Given the description of an element on the screen output the (x, y) to click on. 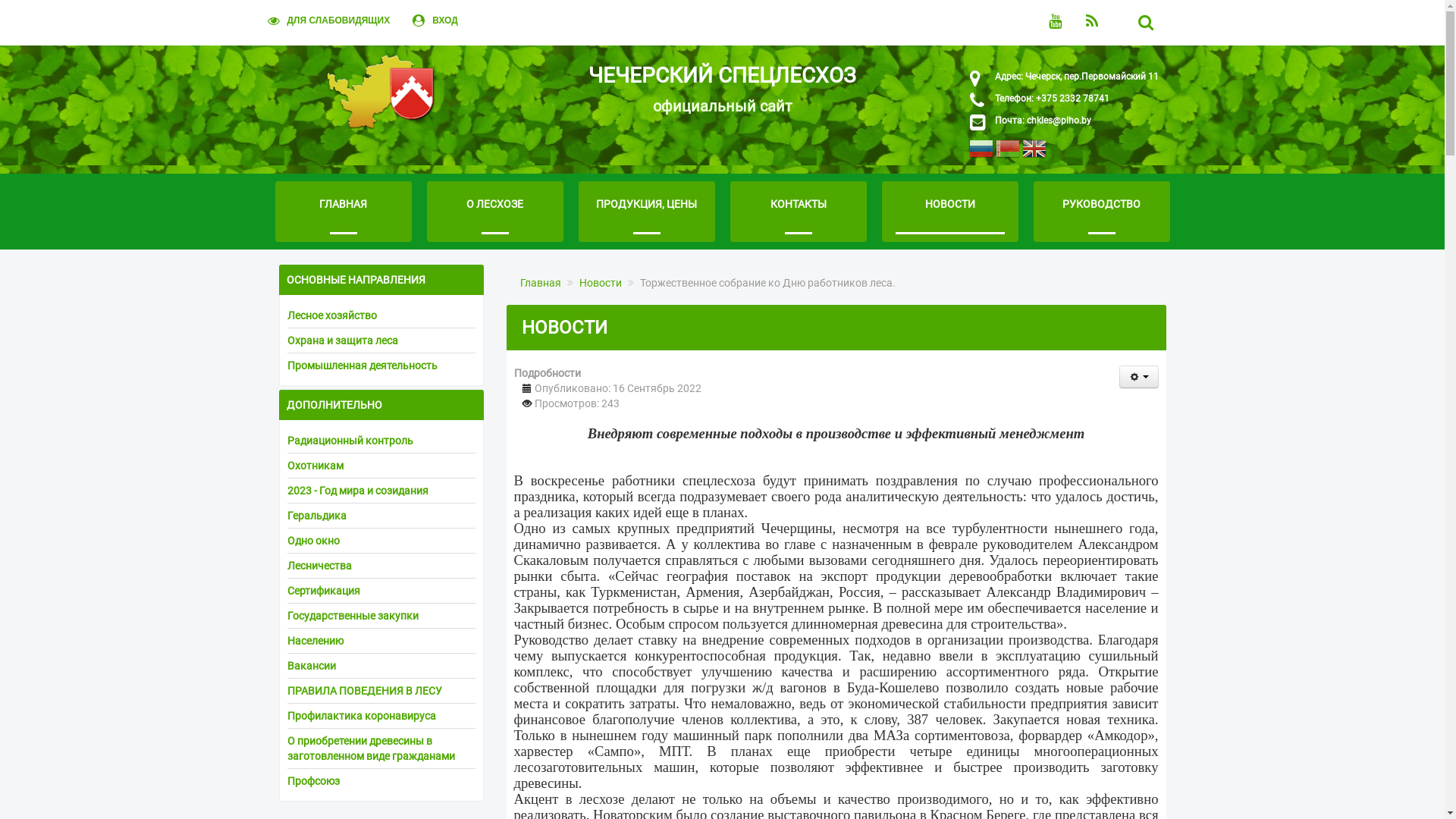
+375 2332 78741 Element type: text (1070, 98)
Belarusian Element type: hover (1006, 151)
English Element type: hover (1034, 151)
Russian Element type: hover (981, 151)
chkles@plho.by Element type: text (1058, 120)
